Given the description of an element on the screen output the (x, y) to click on. 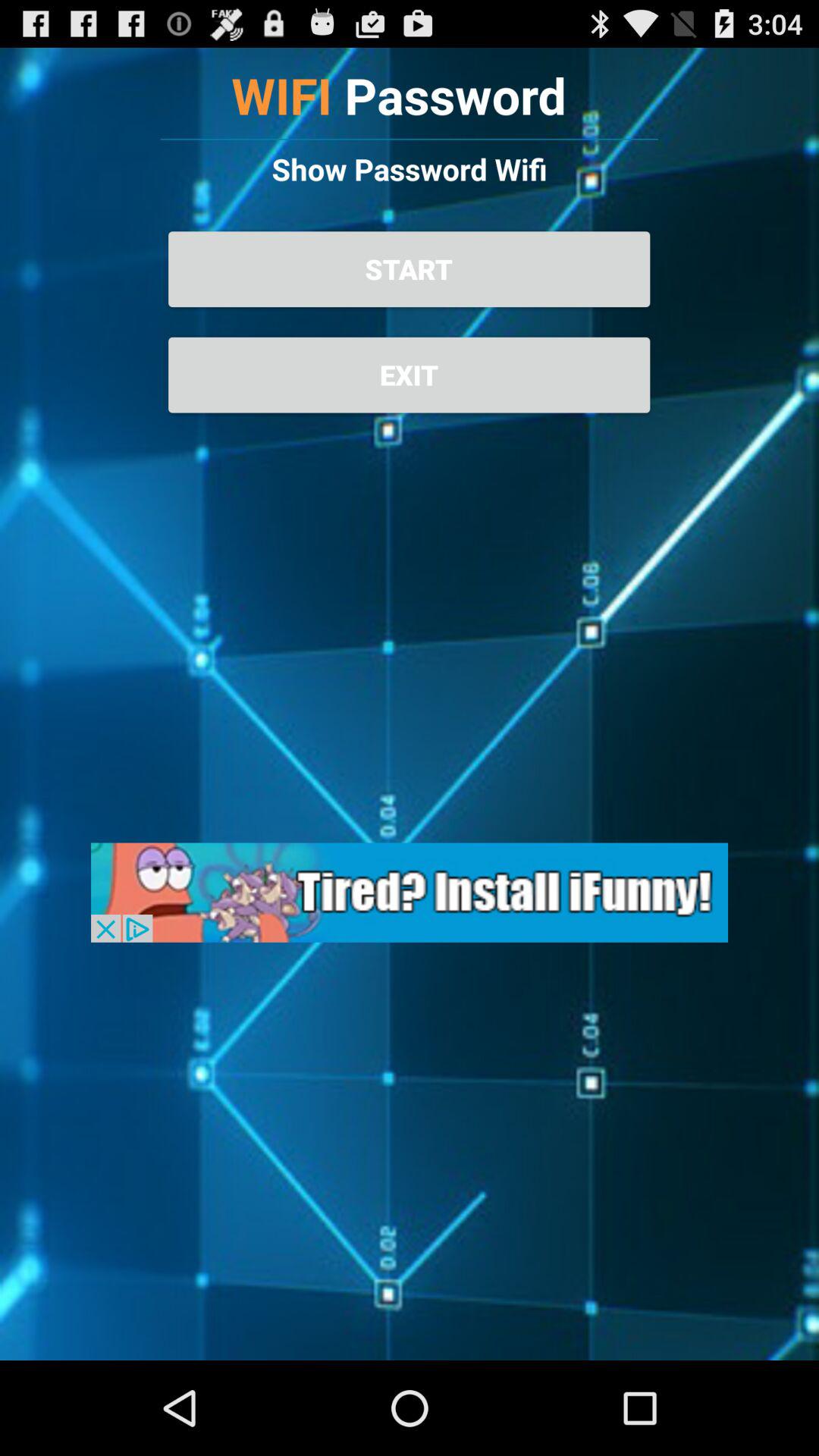
advertisement banner (409, 892)
